Given the description of an element on the screen output the (x, y) to click on. 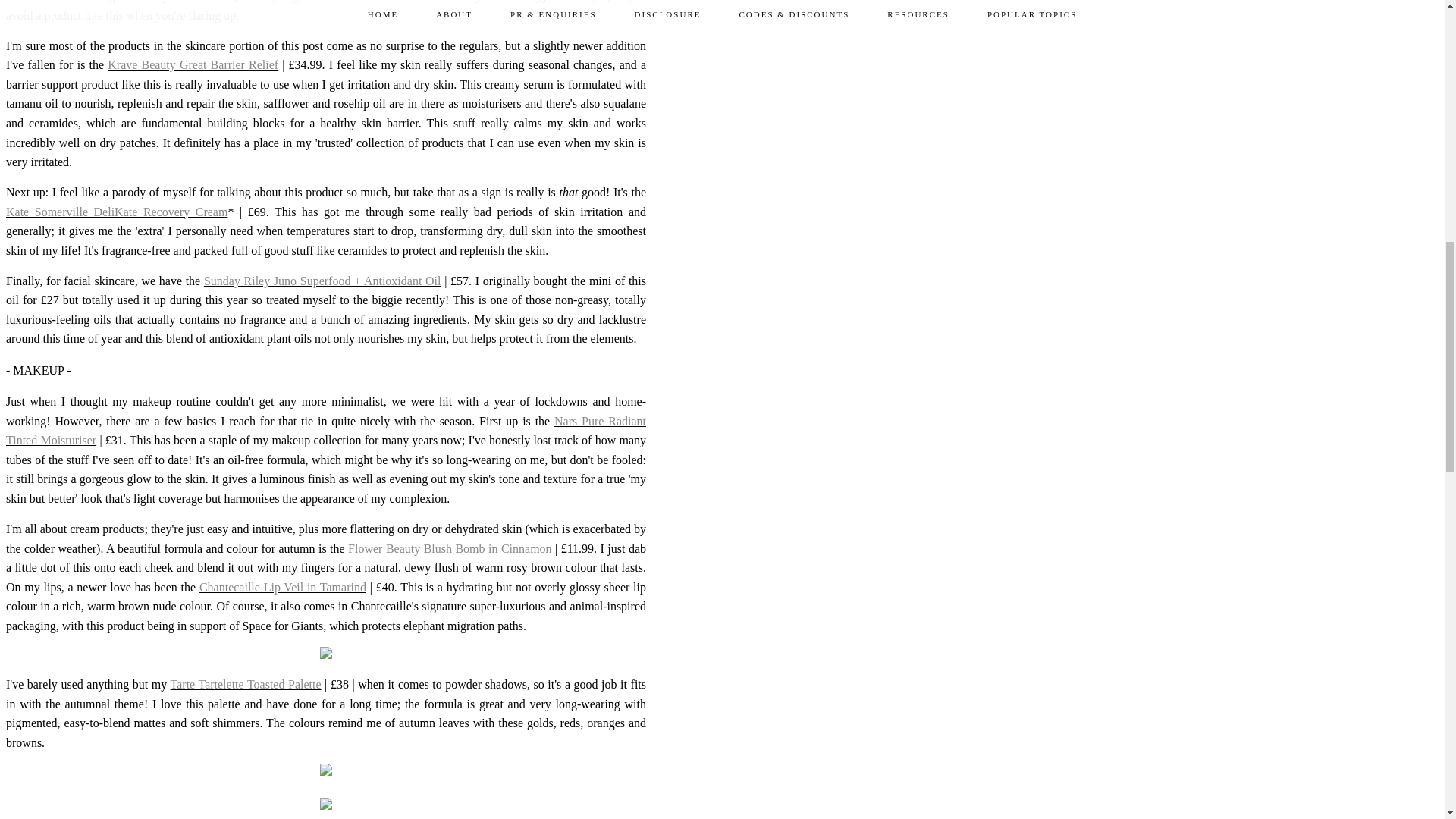
Chantecaille Lip Veil in Tamarind (282, 586)
Krave Beauty Great Barrier Relief (192, 64)
Nars Pure Radiant Tinted Moisturiser (325, 430)
Kate Somerville DeliKate Recovery Cream (116, 211)
Flower Beauty Blush Bomb in Cinnamon (449, 548)
Tarte Tartelette Toasted Palette (245, 684)
